Given the description of an element on the screen output the (x, y) to click on. 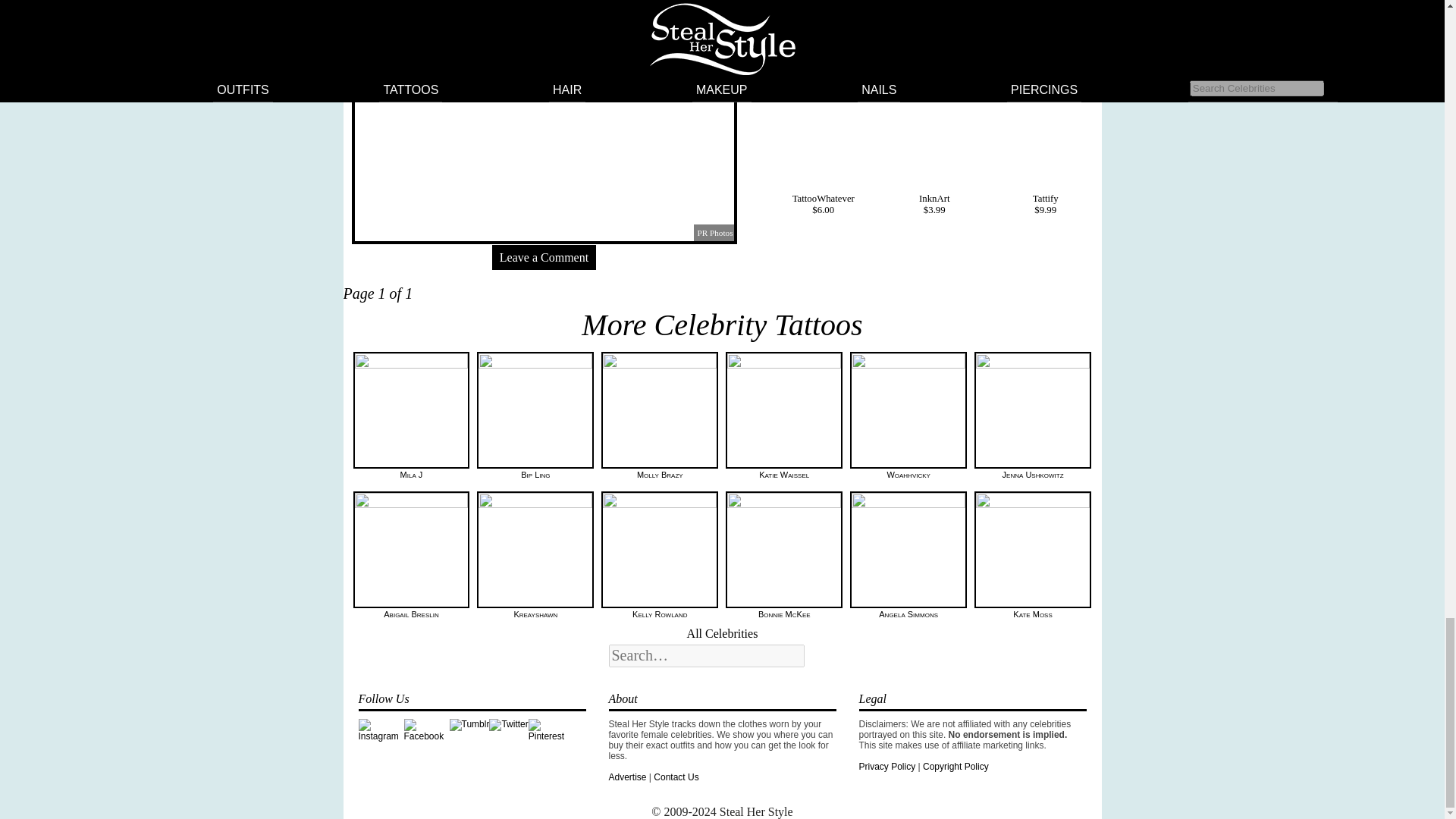
InknArt 2pcs Arabic Sanskrit  (934, 82)
